Given the description of an element on the screen output the (x, y) to click on. 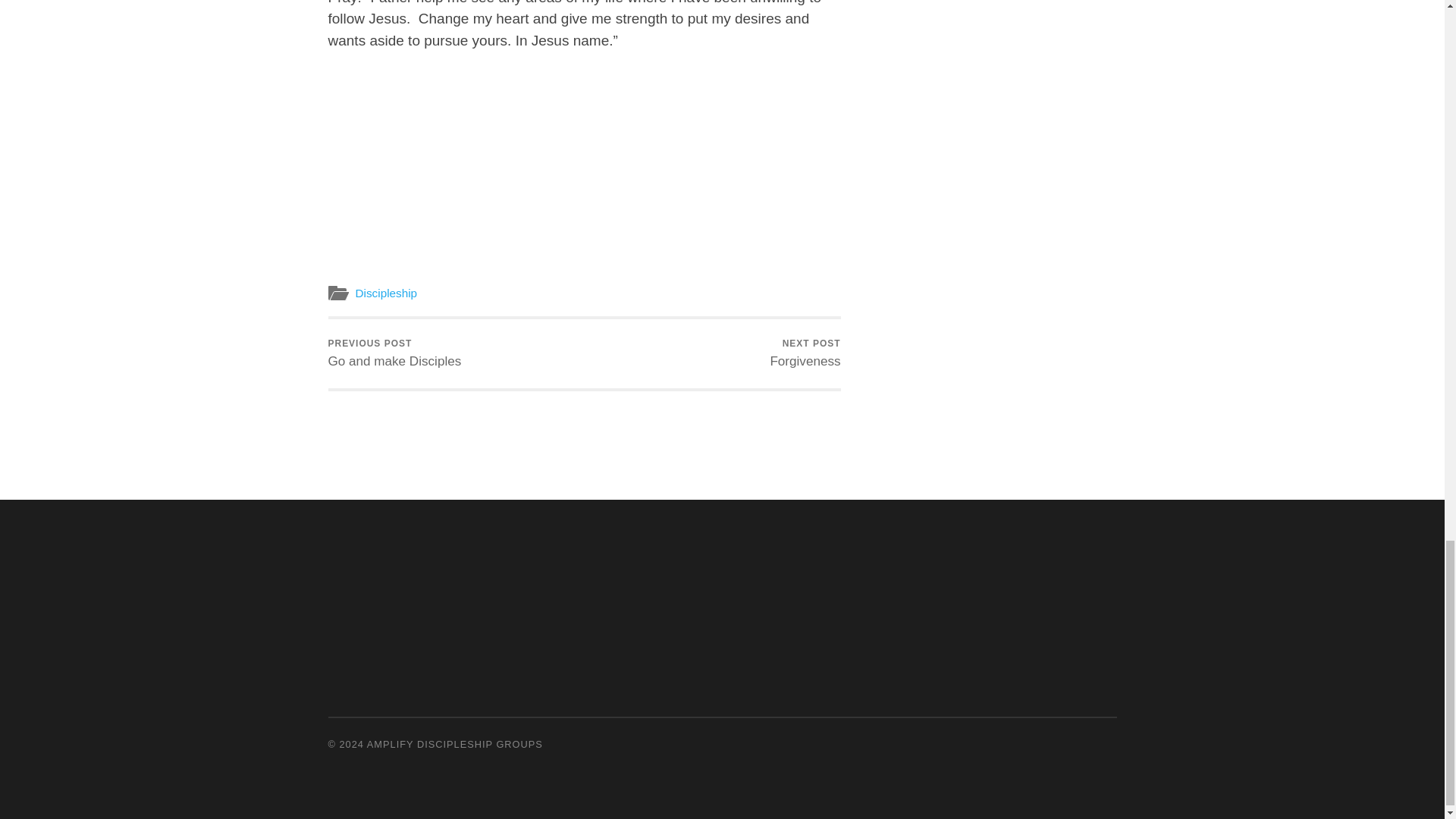
Discipleship (805, 353)
AMPLIFY DISCIPLESHIP GROUPS (385, 292)
